Given the description of an element on the screen output the (x, y) to click on. 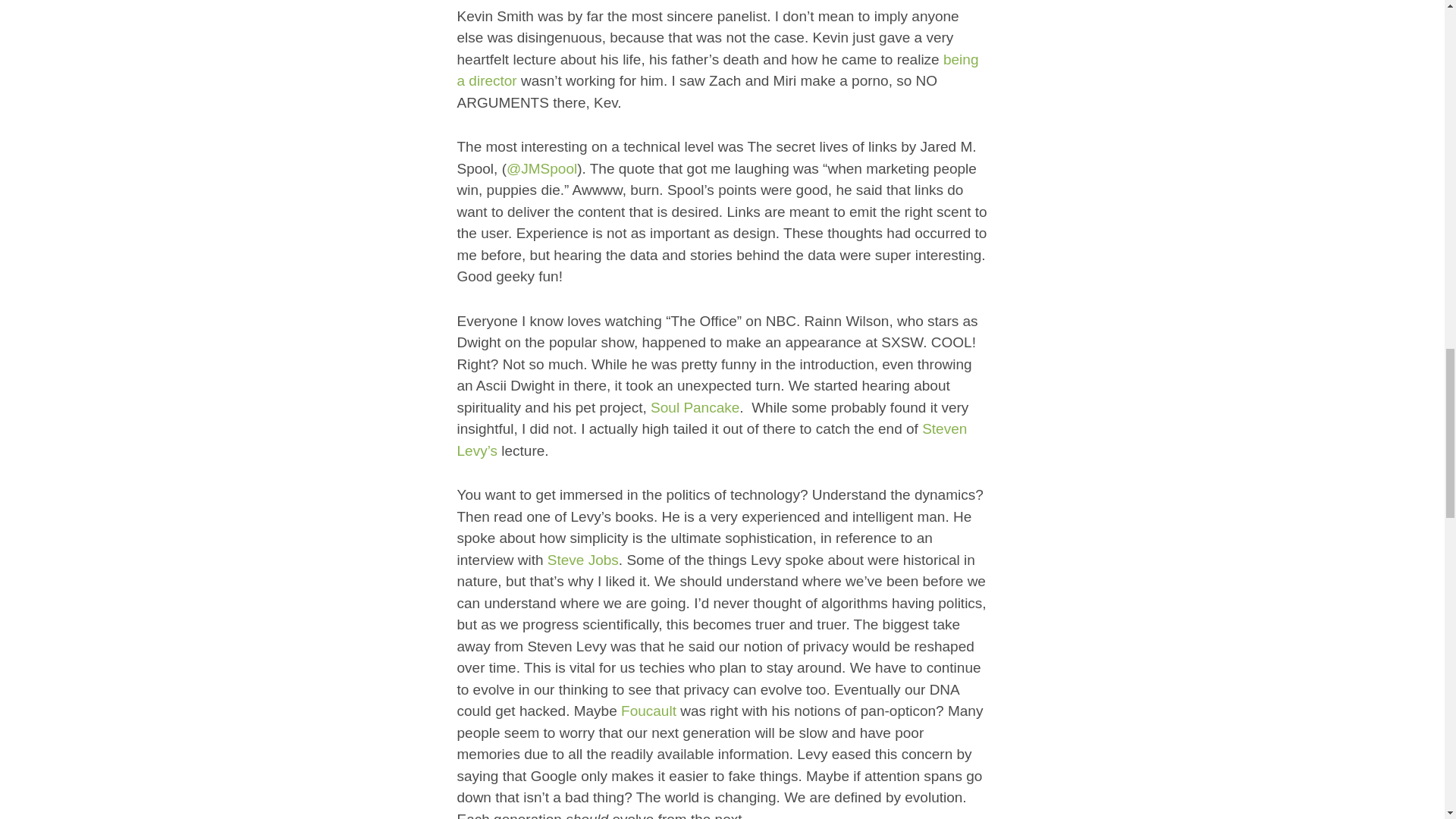
Foucault and privacy (649, 710)
being a director (717, 70)
Rainn gets spiritual (694, 407)
Kevin Smith, director (717, 70)
Steve Jobs (582, 560)
Foucault (649, 710)
Wired magazine's Steven Levy (711, 439)
Jared M. Spool on Twitter (541, 168)
Soul Pancake (694, 407)
Rest In Peace, Mr. Jobs (582, 560)
